Given the description of an element on the screen output the (x, y) to click on. 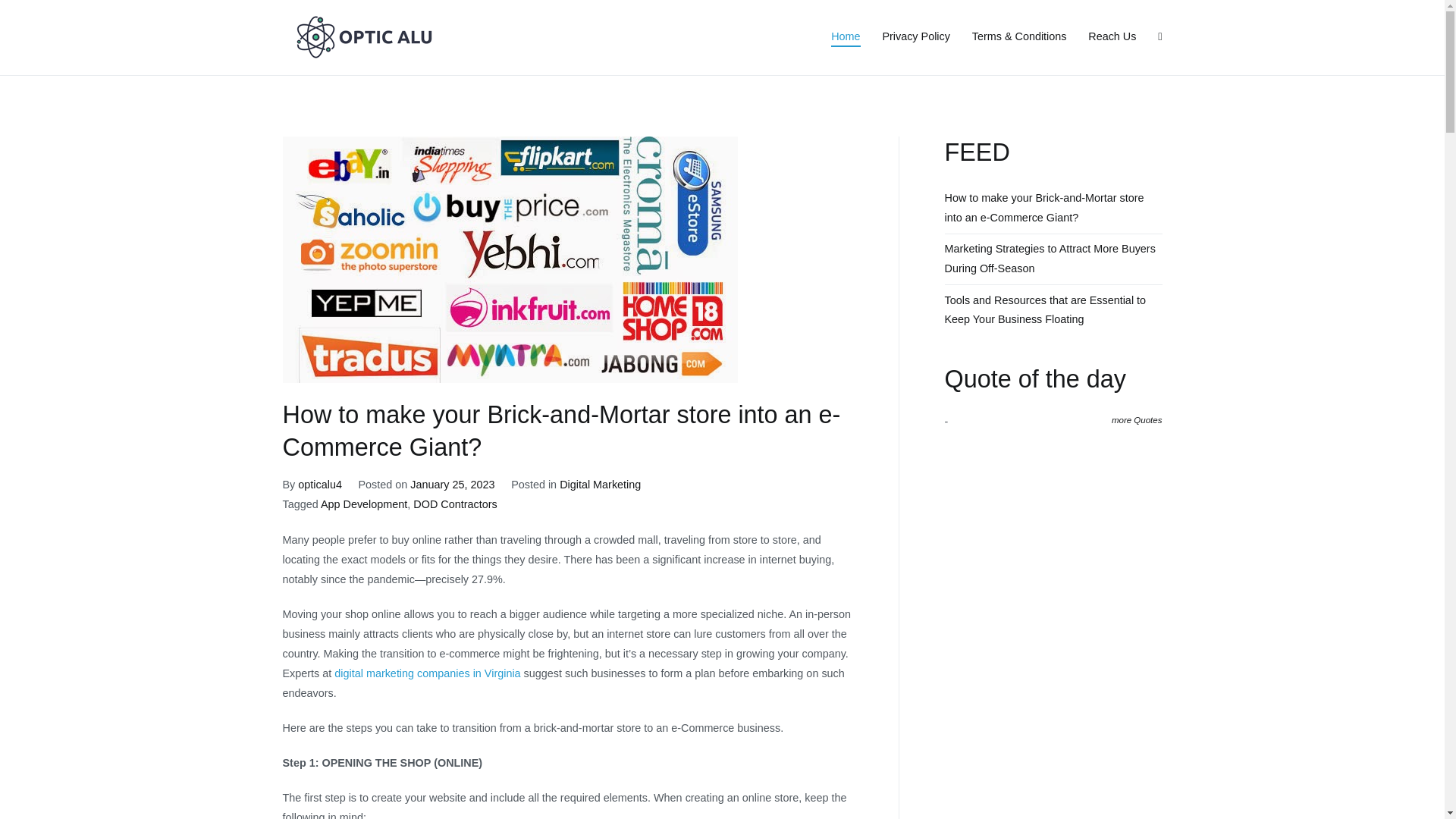
opticalu4 (320, 484)
DOD Contractors (454, 503)
Search (28, 13)
App Development (363, 503)
digital marketing companies in Virginia (426, 673)
Privacy Policy (916, 36)
Reach Us (1111, 36)
January 25, 2023 (452, 484)
Digital Marketing (599, 484)
